Given the description of an element on the screen output the (x, y) to click on. 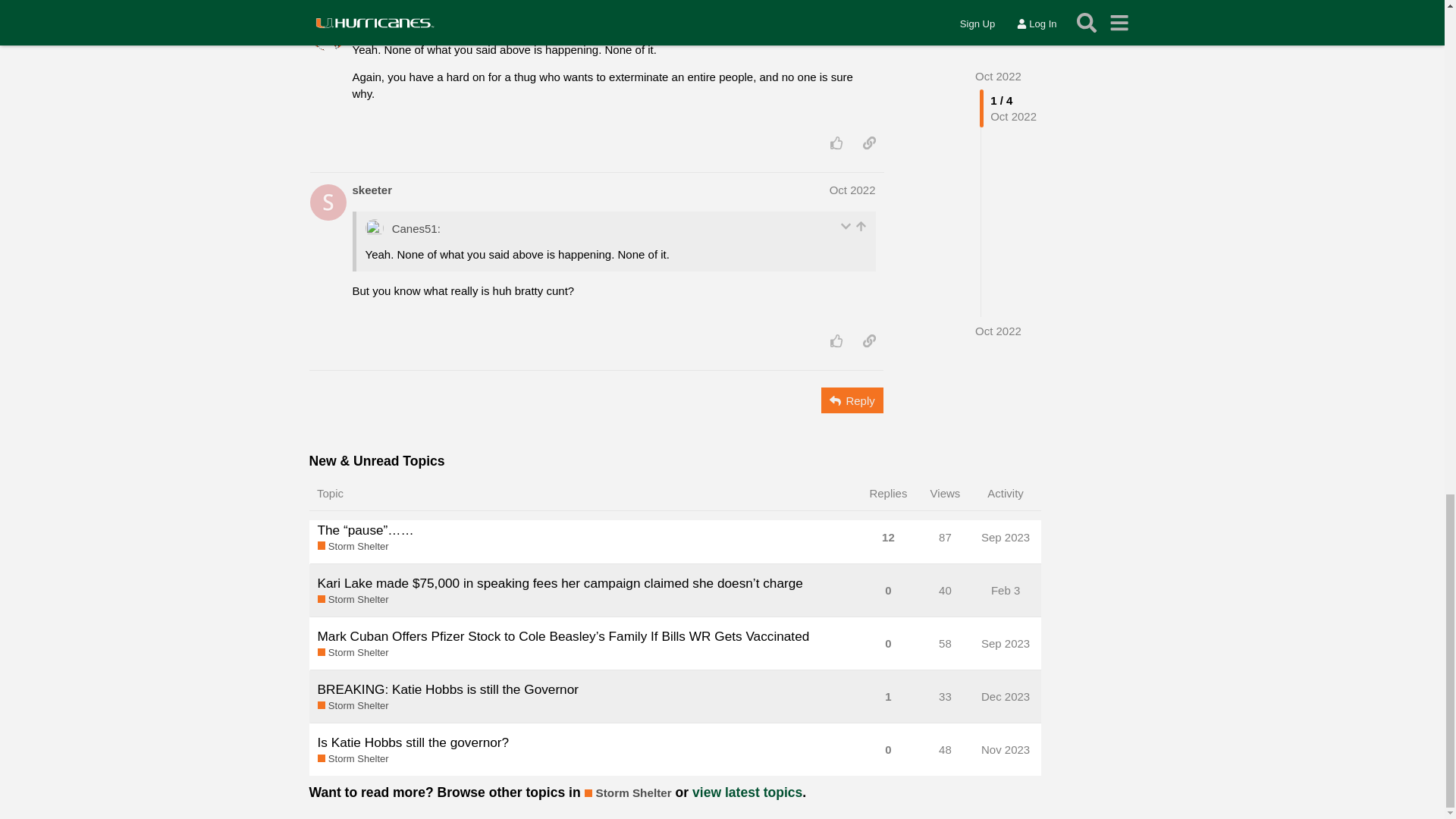
Oct 2022 (852, 19)
Canes51 (375, 19)
